Given the description of an element on the screen output the (x, y) to click on. 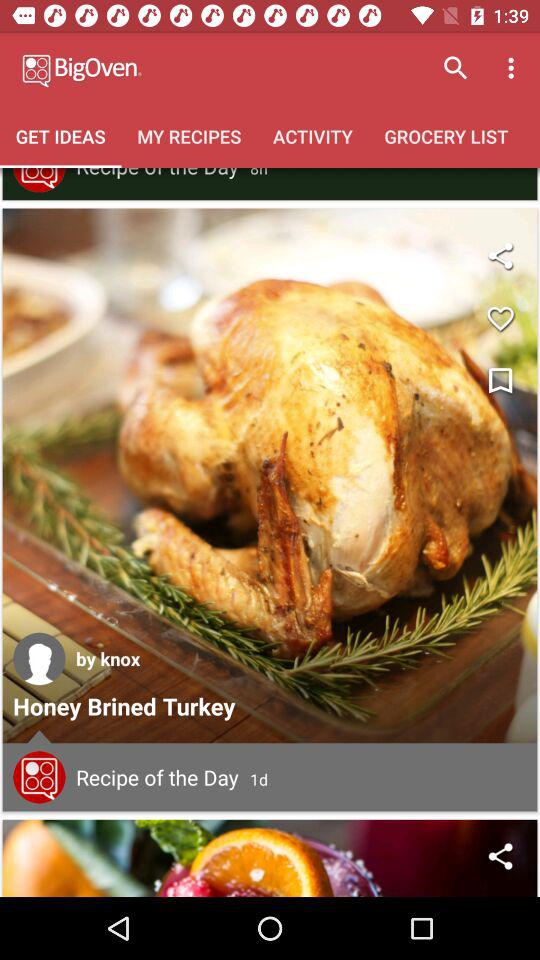
bookmark recipe (500, 381)
